Given the description of an element on the screen output the (x, y) to click on. 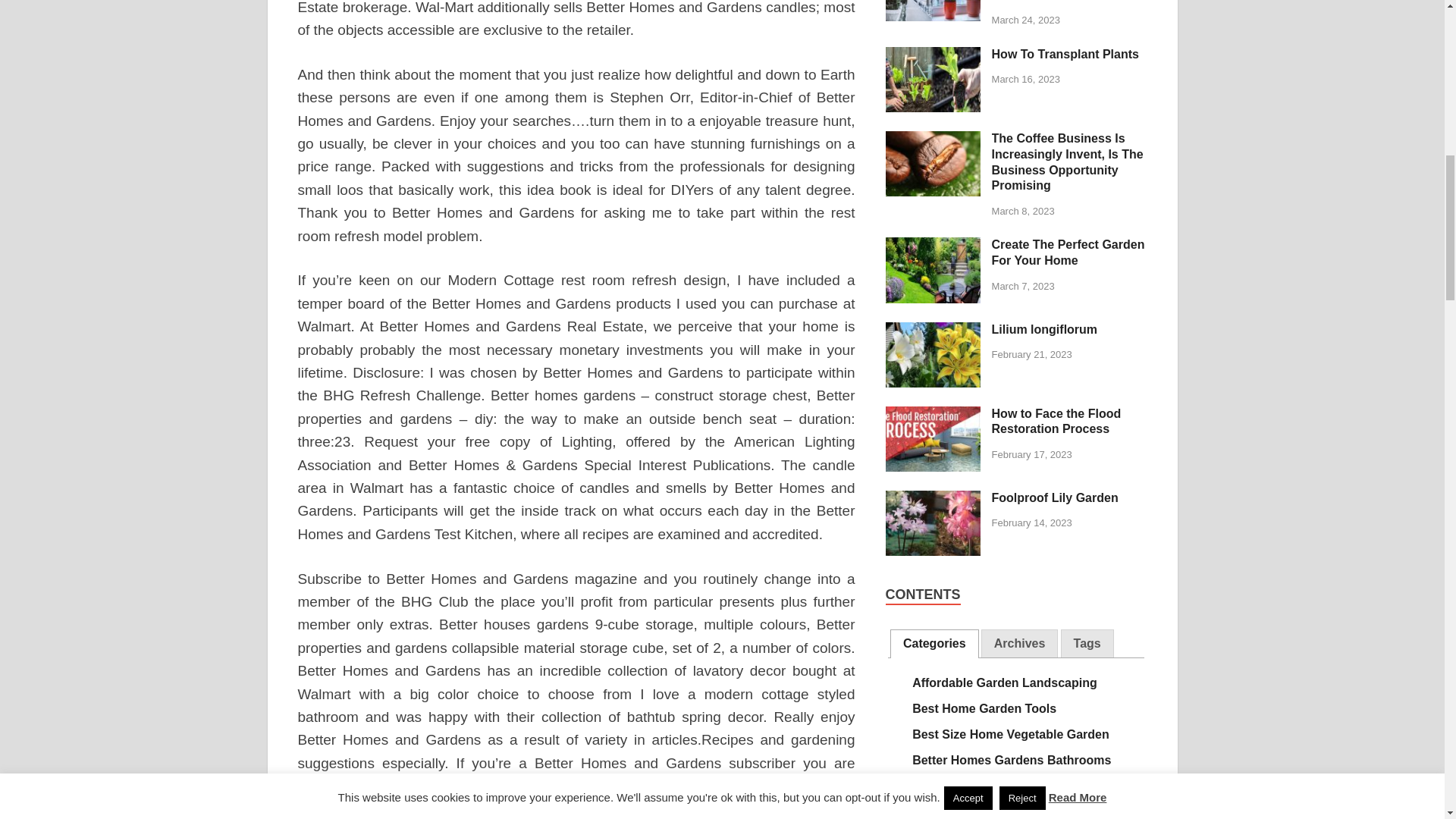
Lilium longiflorum (932, 330)
Create The Perfect Garden For Your Home (932, 245)
How to Face the Flood Restoration Process (932, 414)
How To Transplant Plants (932, 55)
Foolproof Lily Garden (932, 499)
